Given the description of an element on the screen output the (x, y) to click on. 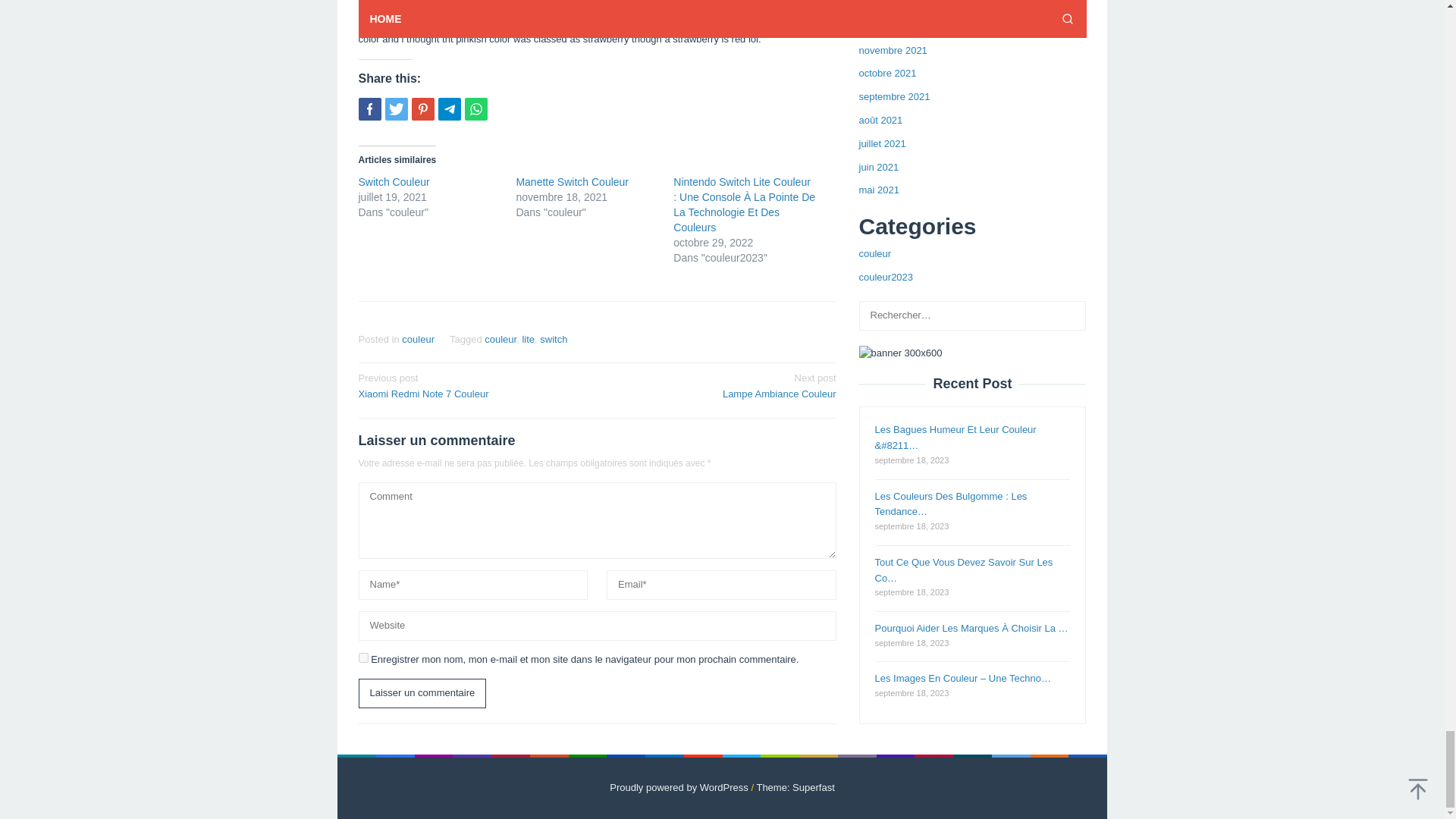
couleur (721, 385)
Laisser un commentaire (417, 338)
couleur (422, 693)
Manette Switch Couleur (500, 338)
Telegram Share (571, 182)
Manette Switch Couleur (449, 108)
switch (571, 182)
Pin this (472, 385)
Laisser un commentaire (553, 338)
Switch Couleur (421, 108)
Switch Couleur (422, 693)
Share this (393, 182)
lite (393, 182)
